Given the description of an element on the screen output the (x, y) to click on. 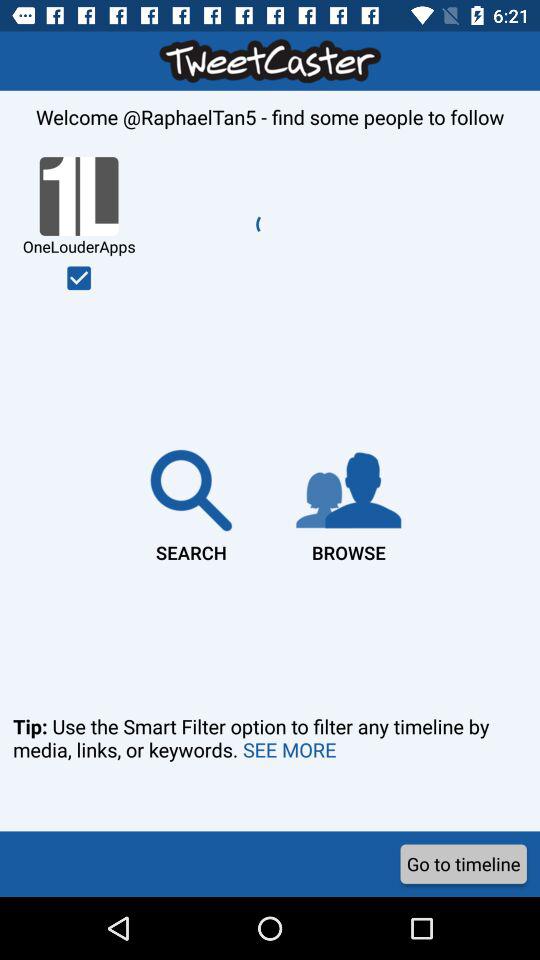
press the icon above tip use the icon (191, 502)
